Given the description of an element on the screen output the (x, y) to click on. 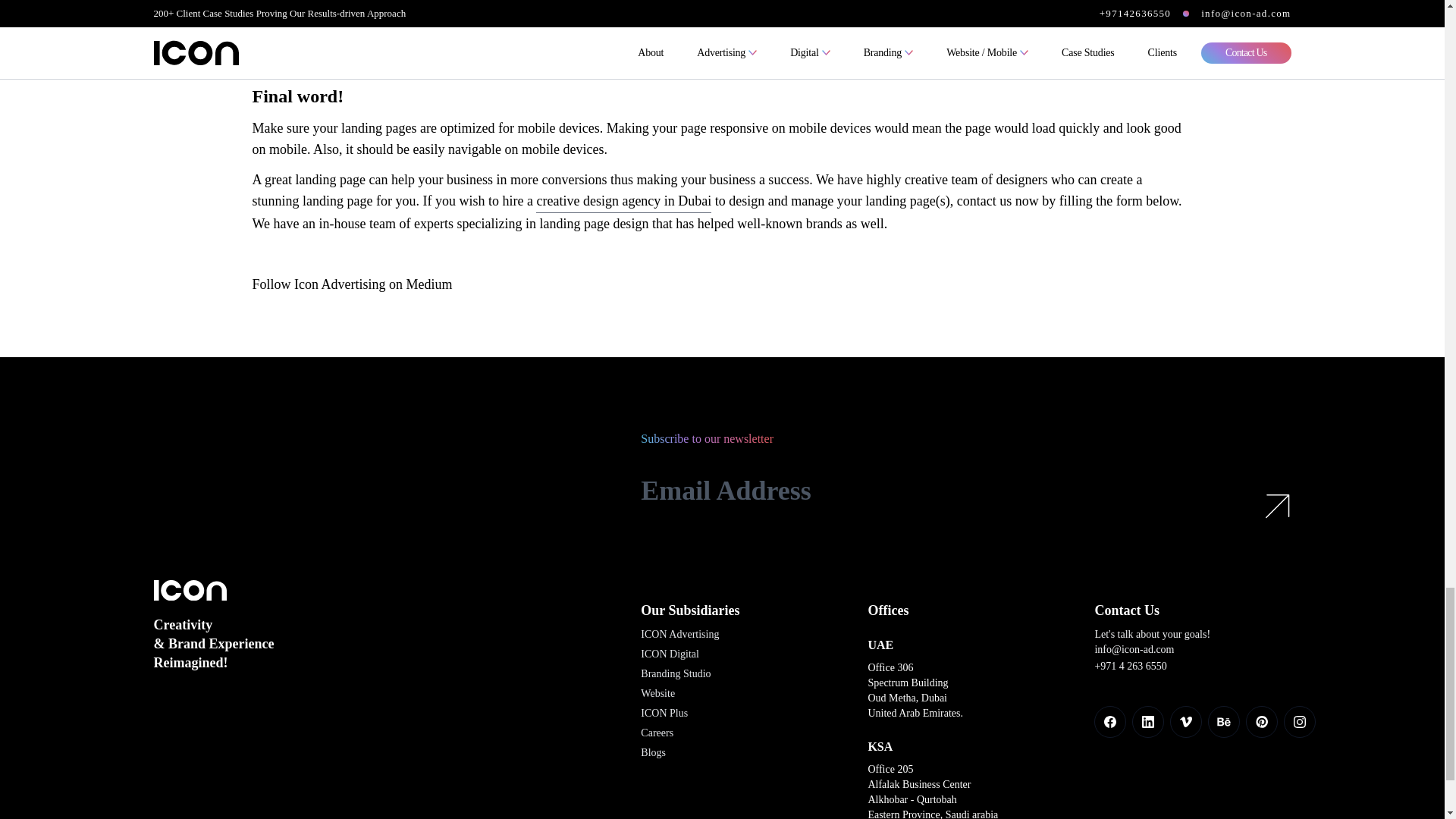
ICON Plus (663, 713)
Website (657, 694)
Blogs (652, 753)
ICON Advertising (679, 635)
Branding Studio (675, 674)
Follow Icon Advertising on Medium (351, 284)
Careers (656, 733)
ICON Digital (669, 655)
creative design agency in Dubai (623, 201)
